Given the description of an element on the screen output the (x, y) to click on. 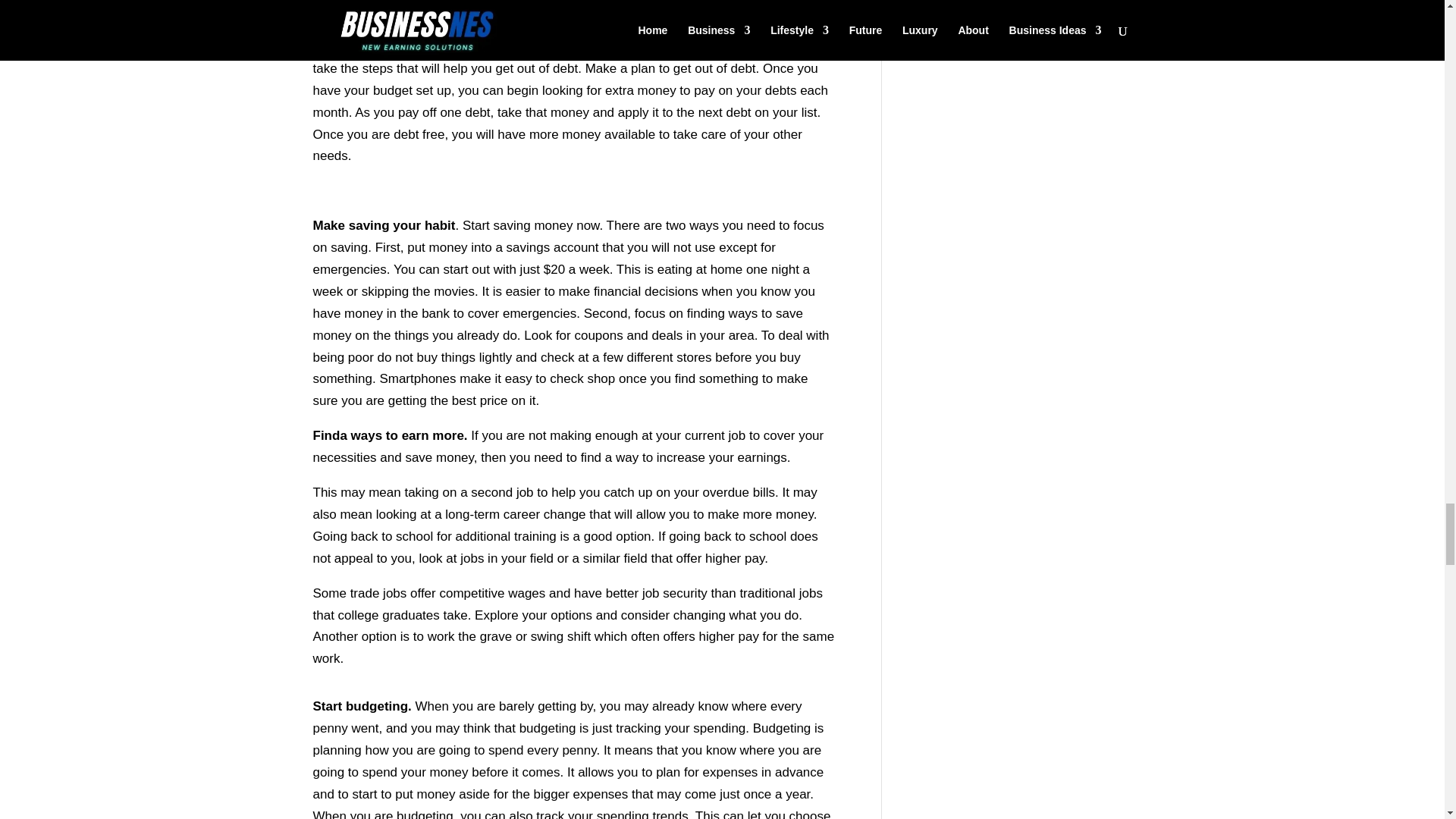
Make saving your habit. Start saving money now (455, 225)
taking on a second job (468, 492)
plan to get out of debt (692, 68)
way to increase your earnings (701, 457)
get out of debt (536, 68)
Budgeting (781, 728)
